Given the description of an element on the screen output the (x, y) to click on. 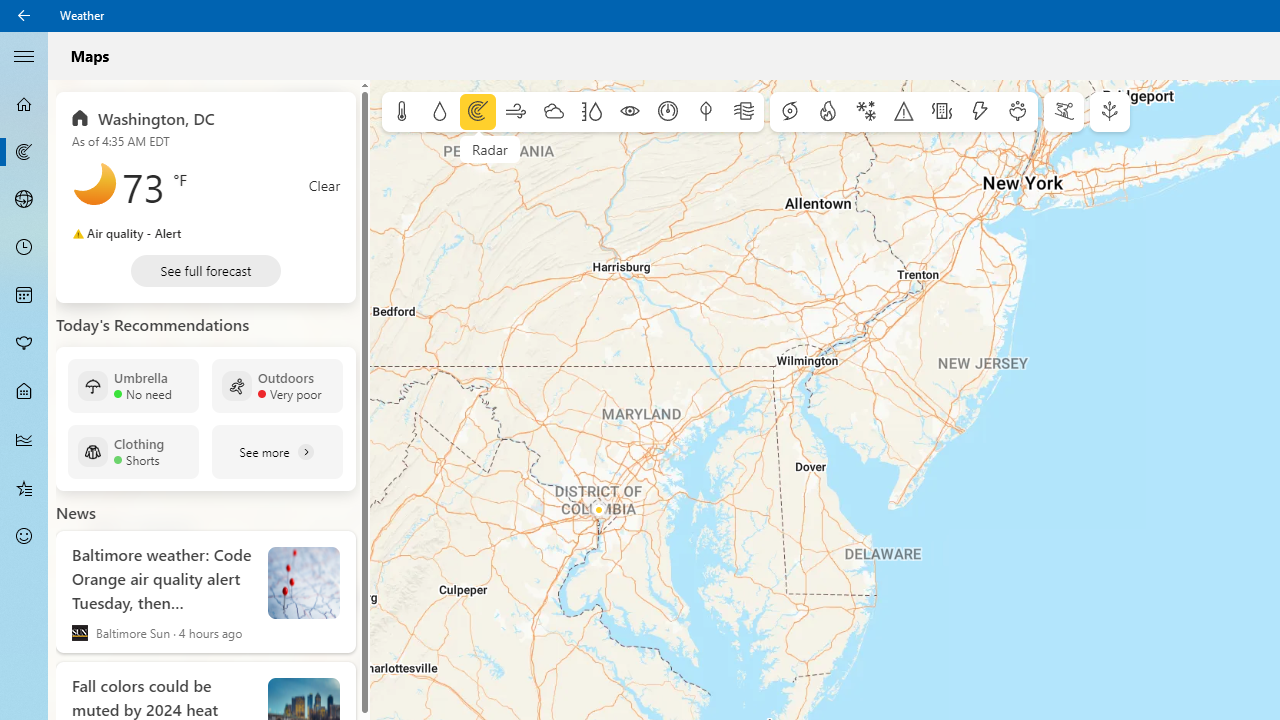
Life - Not Selected (24, 391)
Favorites - Not Selected (24, 487)
Pollen - Not Selected (24, 343)
Monthly Forecast - Not Selected (24, 295)
Back (24, 15)
Forecast - Not Selected (24, 103)
Historical Weather - Not Selected (24, 439)
